Given the description of an element on the screen output the (x, y) to click on. 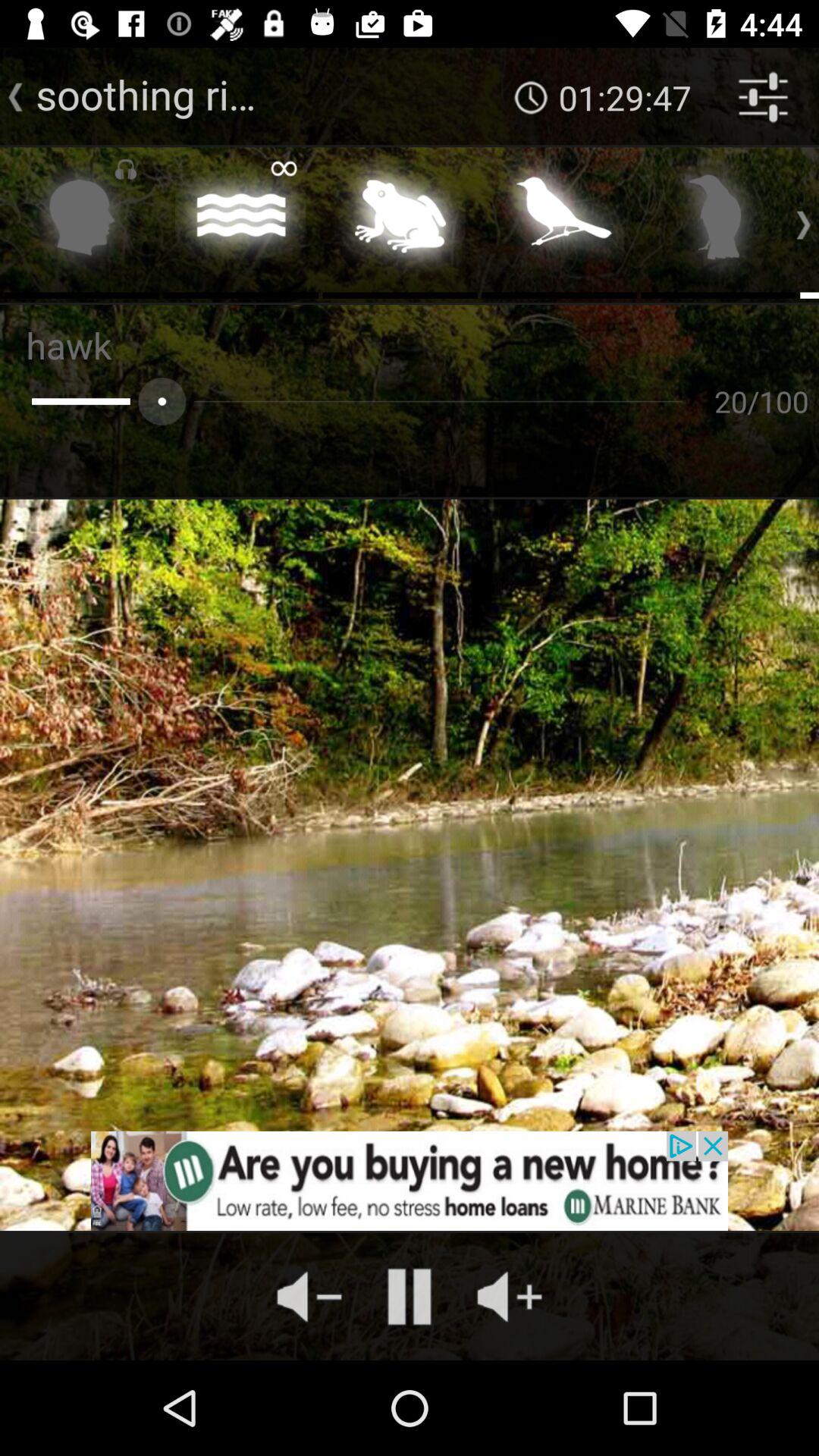
water sounds (240, 221)
